Given the description of an element on the screen output the (x, y) to click on. 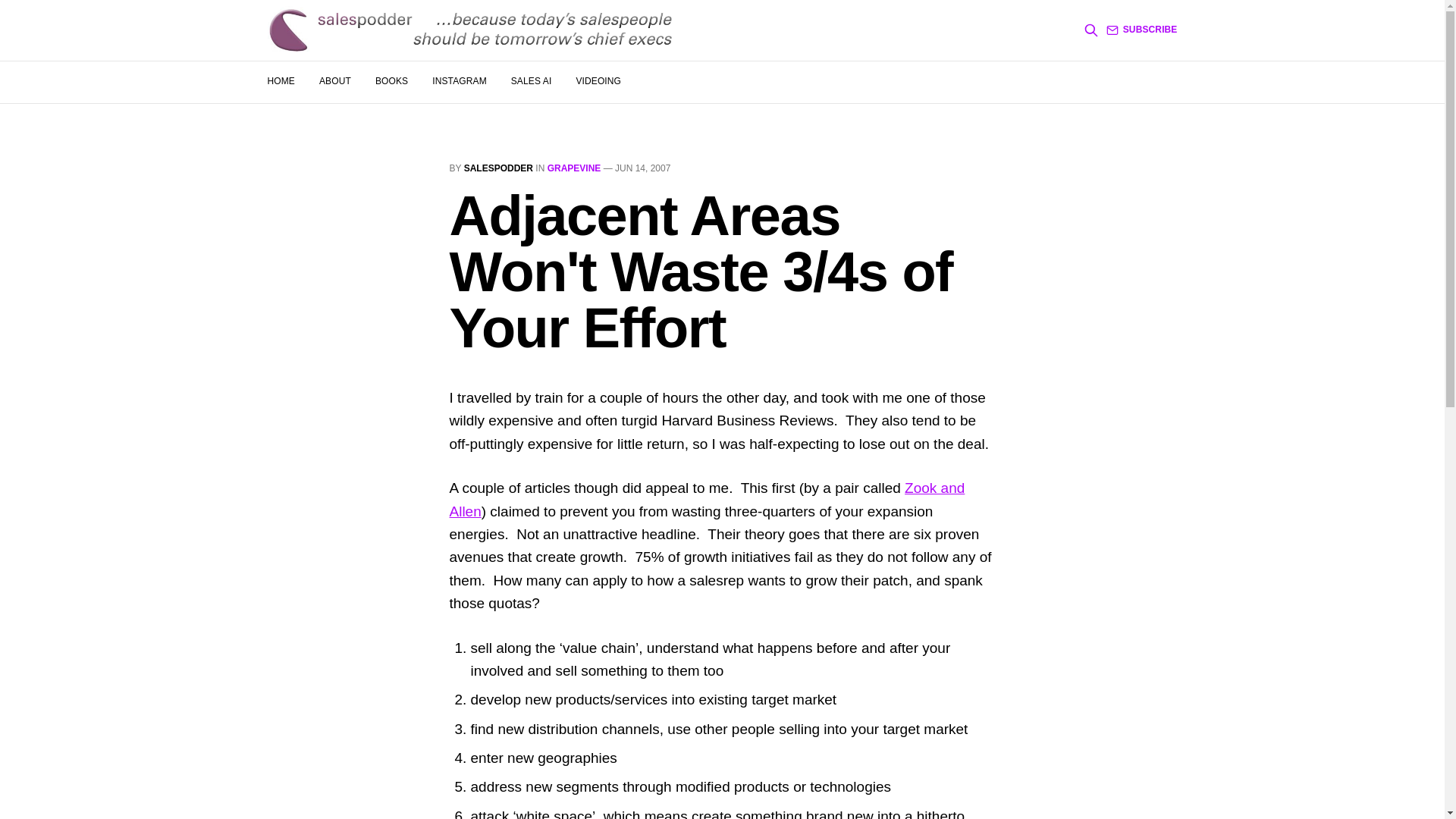
BOOKS (391, 81)
ABOUT (334, 81)
HOME (280, 81)
SALESPODDER (498, 167)
Zook and Allen (705, 498)
SUBSCRIBE (1141, 29)
GRAPEVINE (574, 167)
SALES AI (531, 81)
INSTAGRAM (459, 81)
VIDEOING (598, 81)
